Given the description of an element on the screen output the (x, y) to click on. 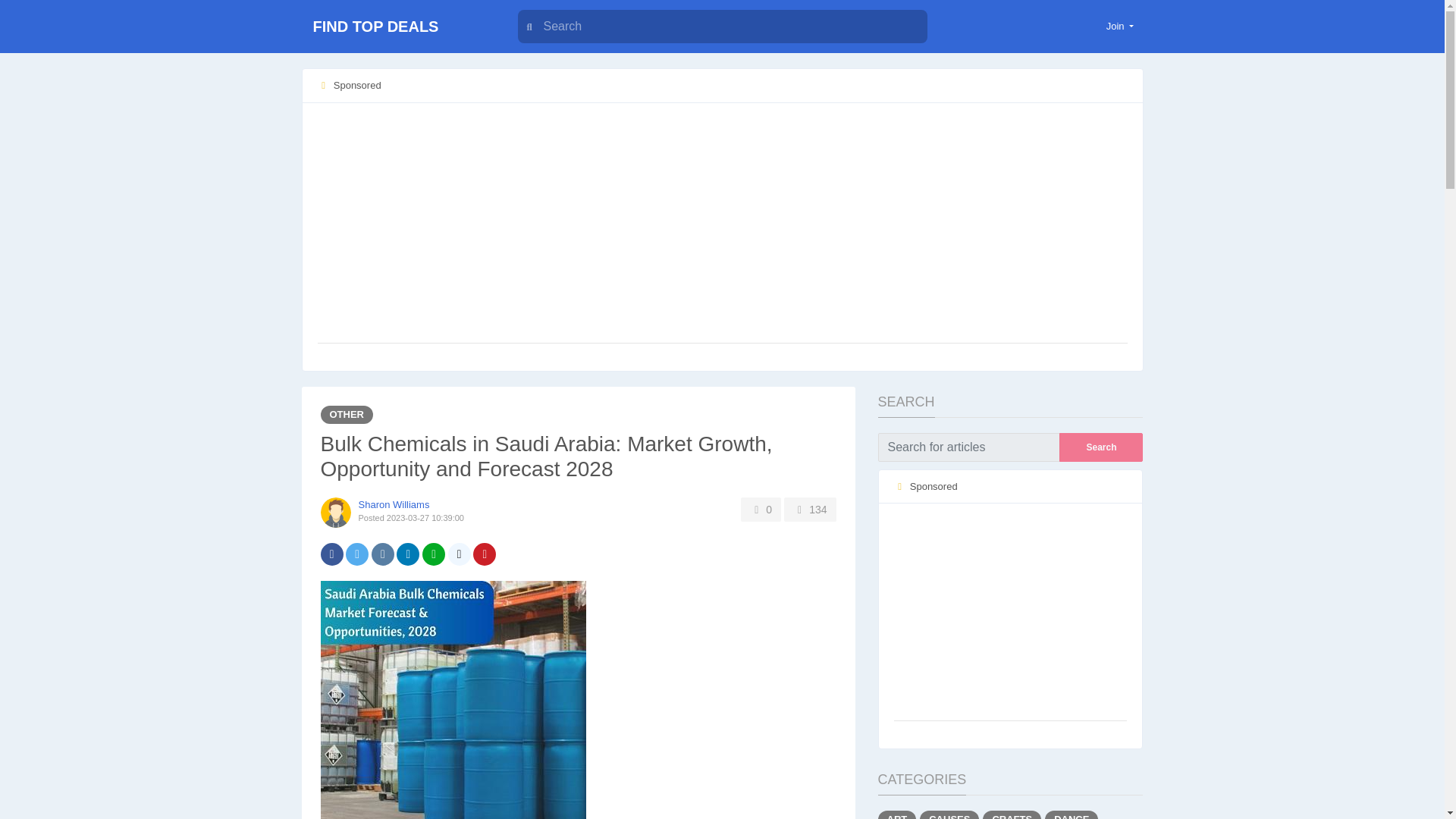
0 (760, 509)
Join (1119, 26)
CRAFTS (1011, 814)
Sharon Williams (393, 504)
OTHER (346, 413)
FIND TOP DEALS (396, 26)
CAUSES (949, 814)
Search (1100, 446)
ART (897, 814)
